Given the description of an element on the screen output the (x, y) to click on. 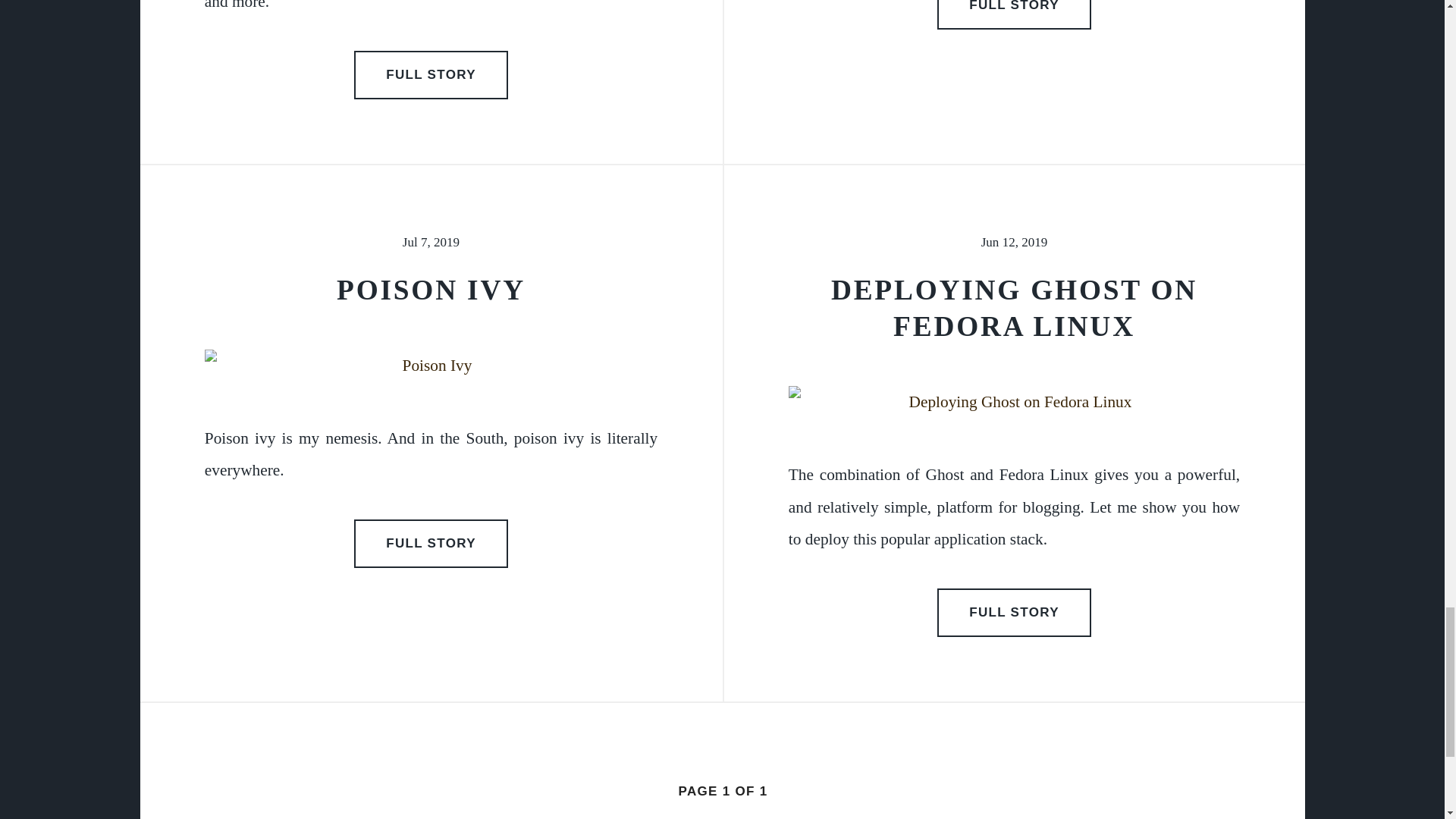
FULL STORY (1014, 14)
FULL STORY (1014, 612)
FULL STORY (430, 543)
POISON IVY (430, 289)
FULL STORY (430, 74)
DEPLOYING GHOST ON FEDORA LINUX (1013, 308)
